Given the description of an element on the screen output the (x, y) to click on. 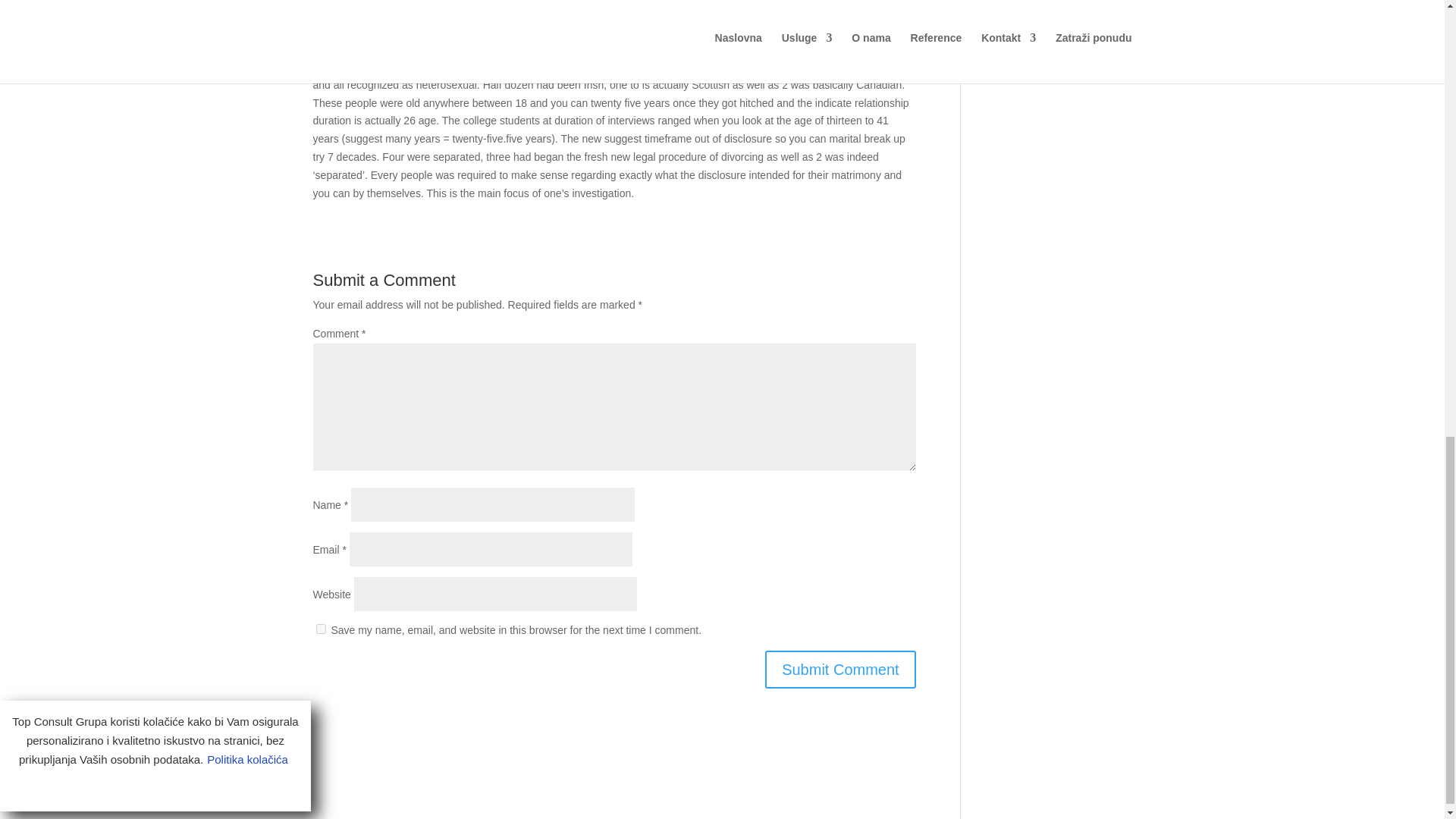
Submit Comment (840, 669)
Estisk kvindelige personals (786, 66)
yes (319, 628)
Submit Comment (840, 669)
